Given the description of an element on the screen output the (x, y) to click on. 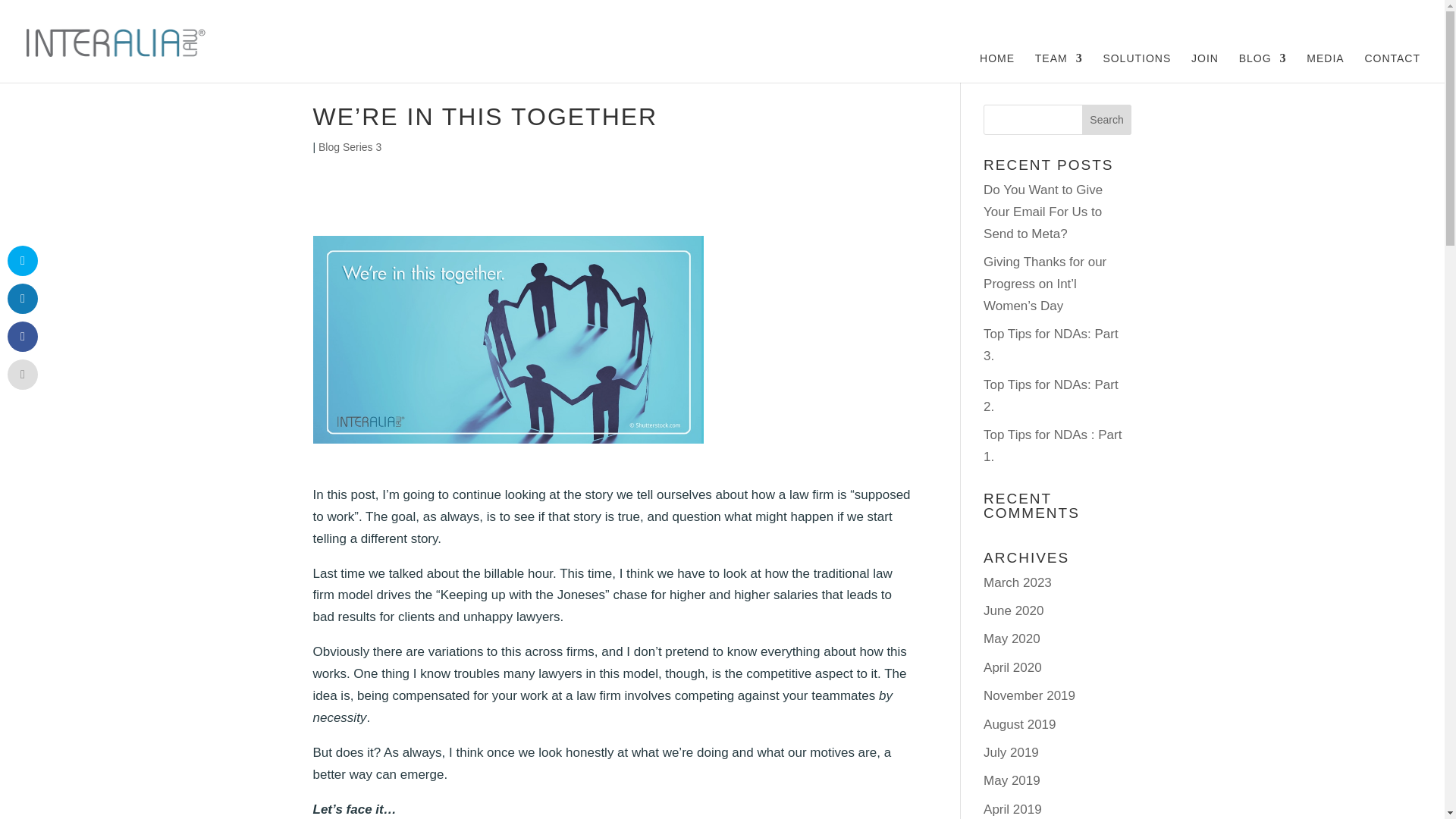
Top Tips for NDAs: Part 2. (1051, 395)
MEDIA (1324, 65)
Top Tips for NDAs : Part 1. (1052, 445)
Search (1106, 119)
CONTACT (1392, 65)
SOLUTIONS (1136, 65)
May 2020 (1012, 638)
June 2020 (1013, 610)
August 2019 (1019, 724)
HOME (996, 65)
